Given the description of an element on the screen output the (x, y) to click on. 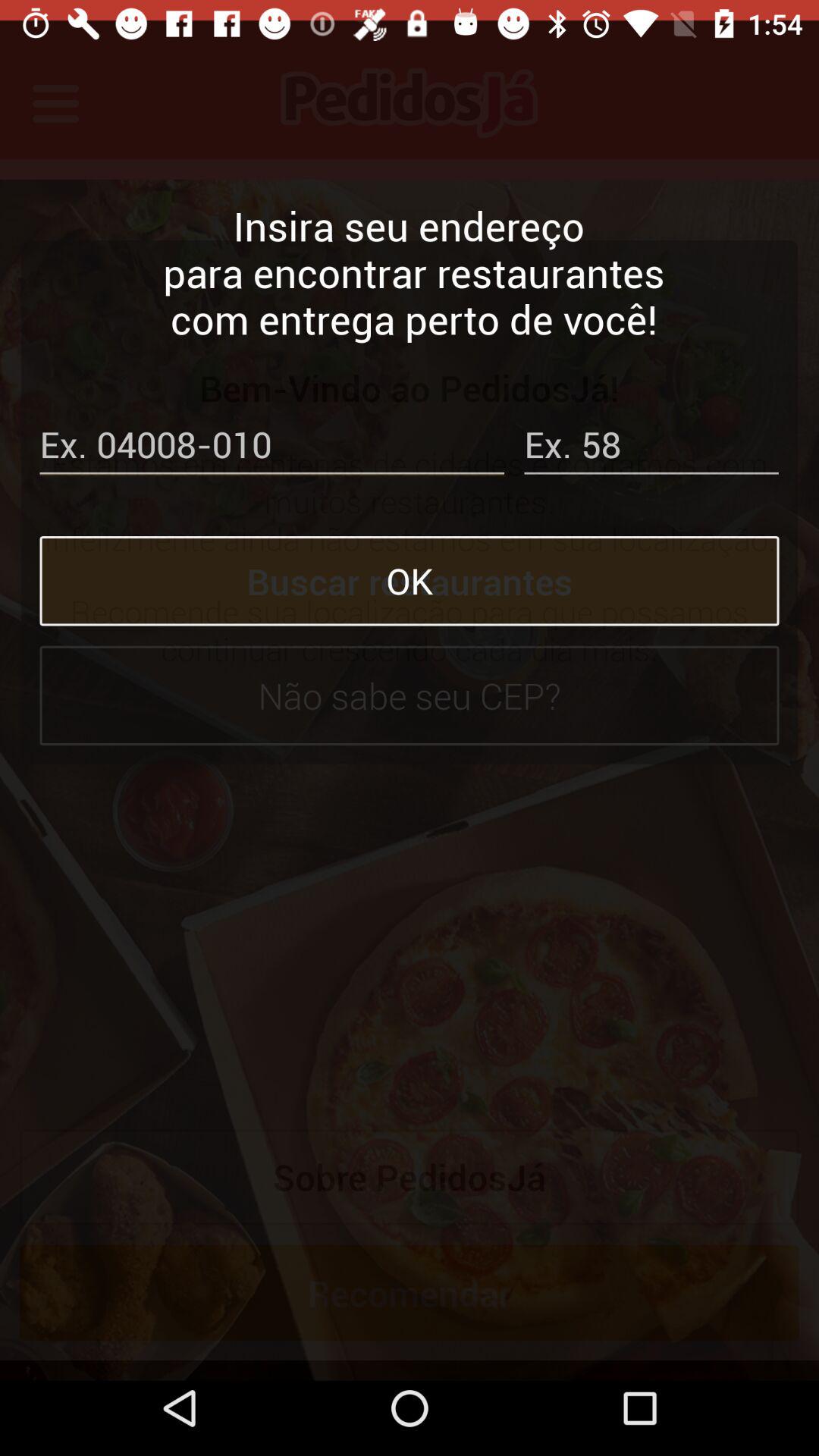
flip to ok item (409, 560)
